Given the description of an element on the screen output the (x, y) to click on. 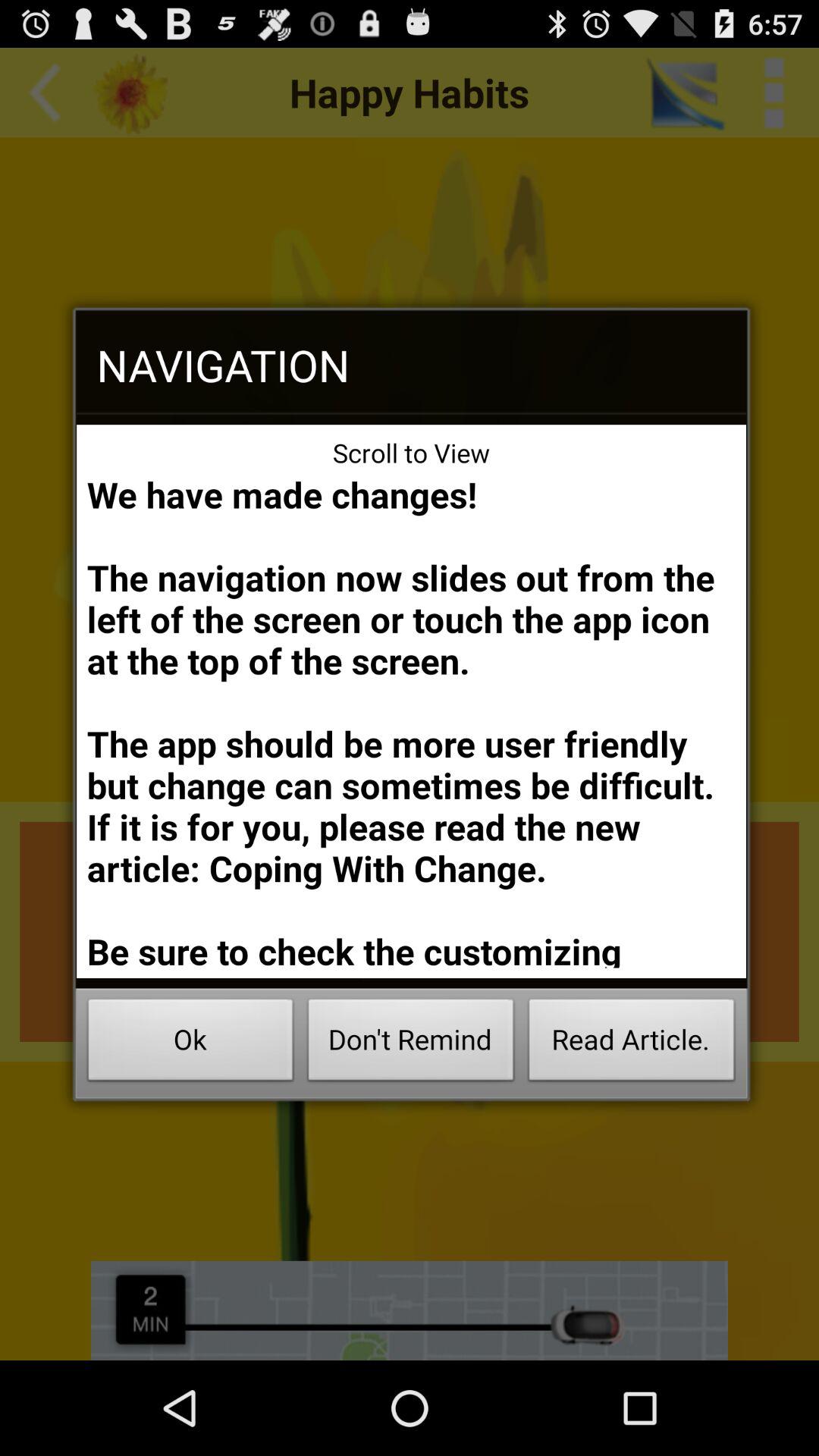
choose the item to the right of ok item (410, 1044)
